Given the description of an element on the screen output the (x, y) to click on. 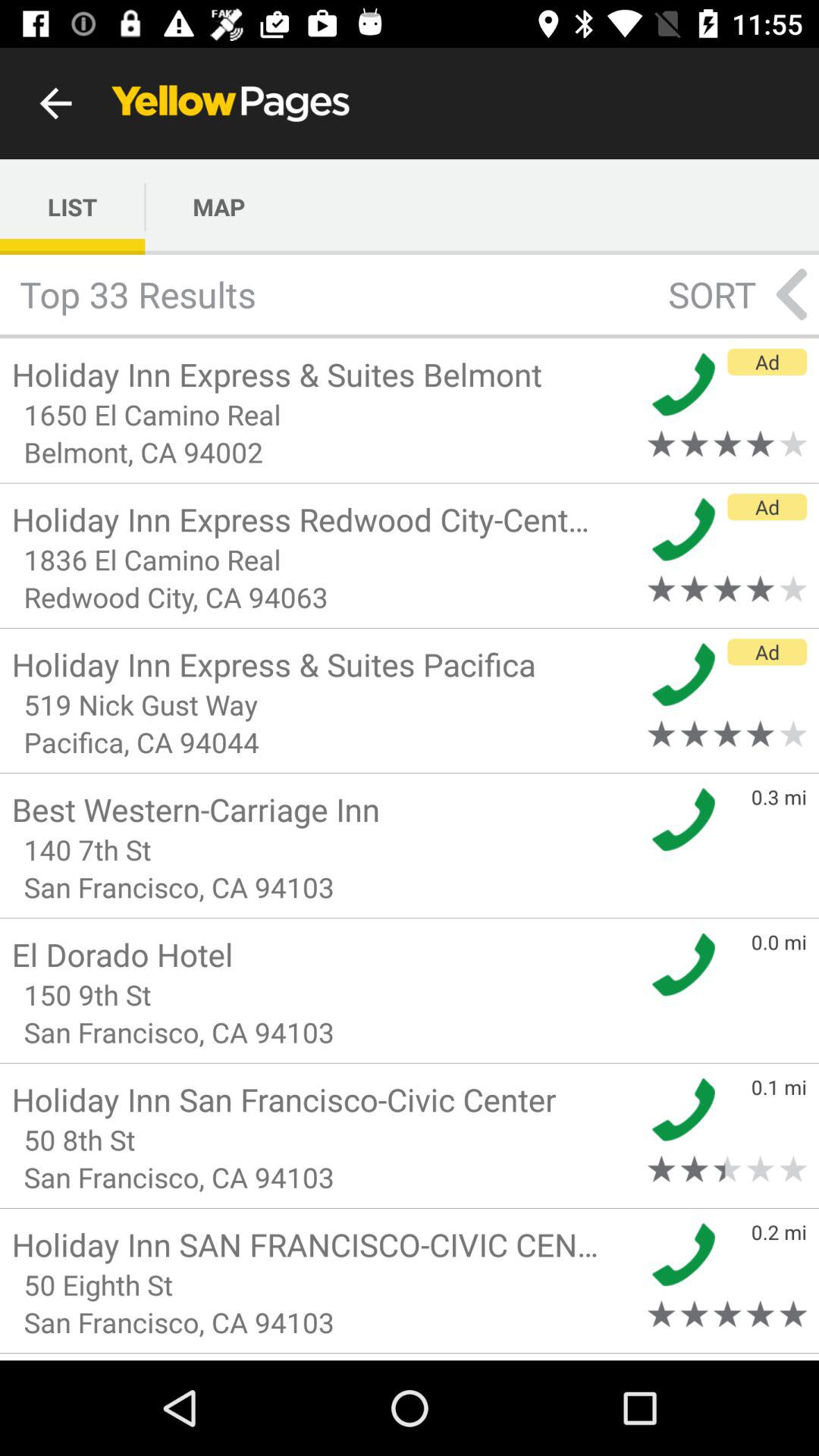
tap icon next to list (218, 206)
